Given the description of an element on the screen output the (x, y) to click on. 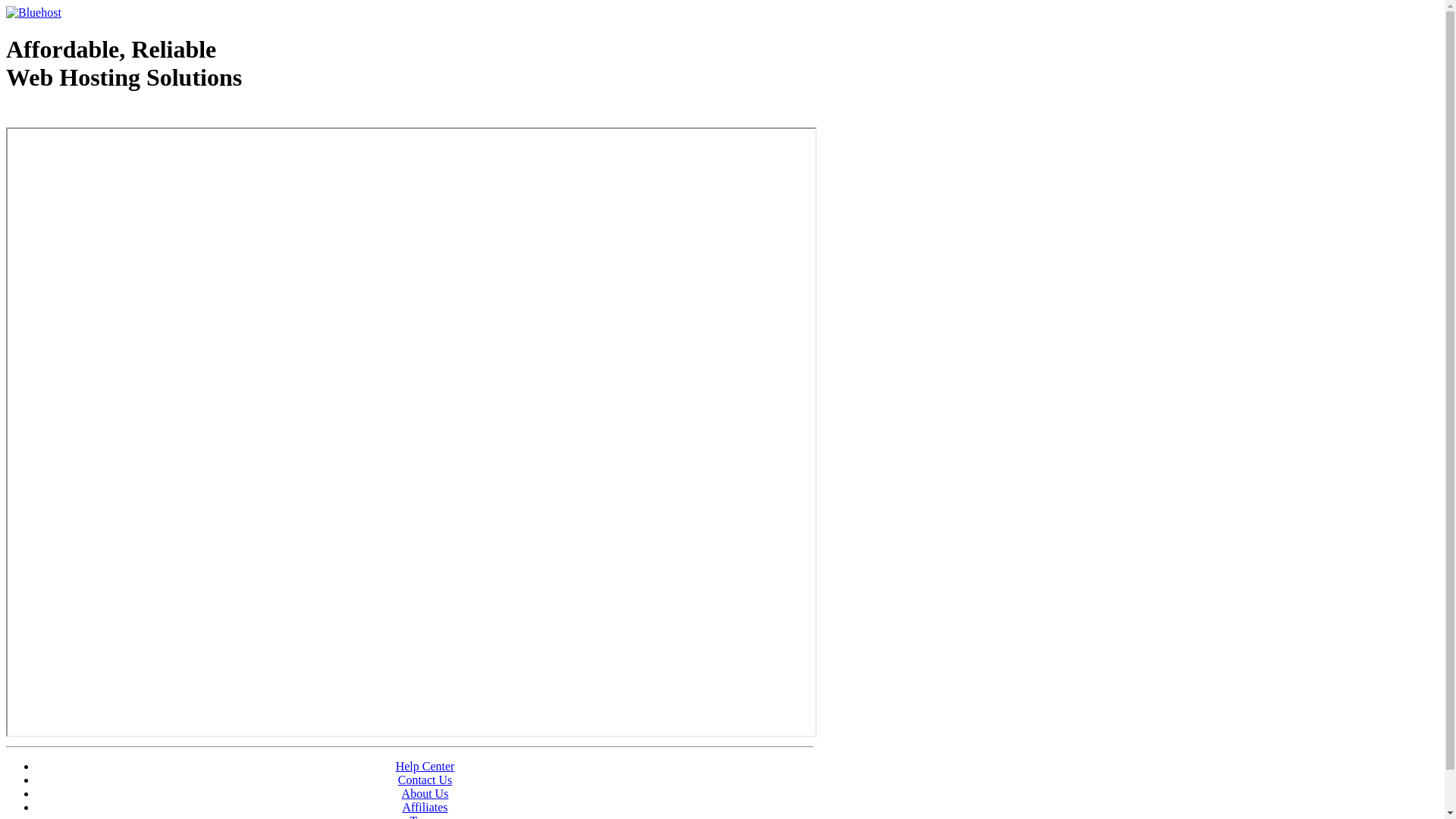
Contact Us Element type: text (425, 779)
Affiliates Element type: text (424, 806)
Help Center Element type: text (425, 765)
About Us Element type: text (424, 793)
Web Hosting - courtesy of www.bluehost.com Element type: text (94, 115)
